Given the description of an element on the screen output the (x, y) to click on. 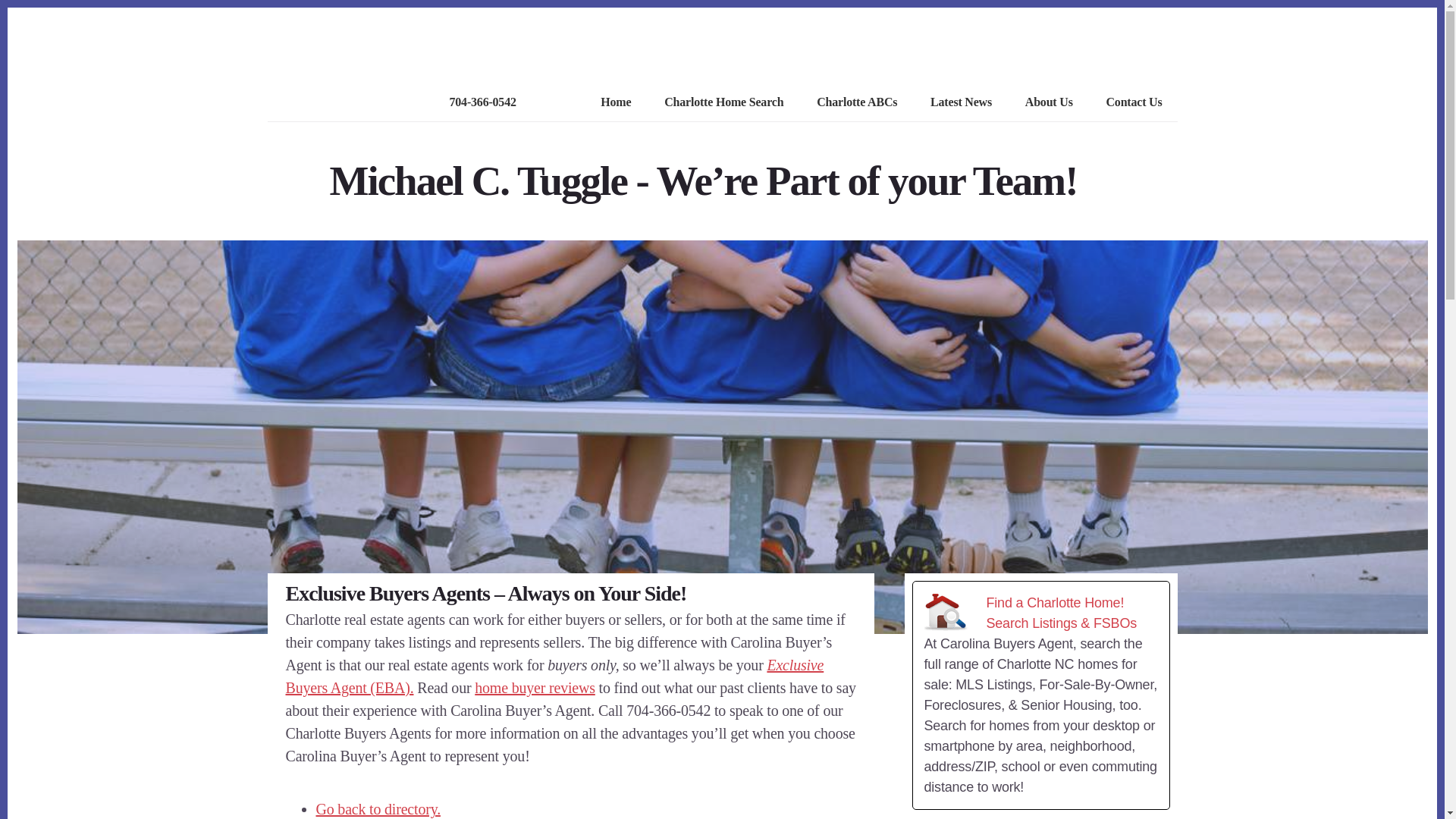
Charlotte Home Search (723, 103)
Contact Us (1133, 103)
Go back to directory. (377, 808)
Home Buyer Testimonials (534, 687)
Latest News (960, 103)
home buyer reviews (534, 687)
Home (614, 103)
Charlotte Buyers Agents (554, 676)
About Us (1048, 103)
